Given the description of an element on the screen output the (x, y) to click on. 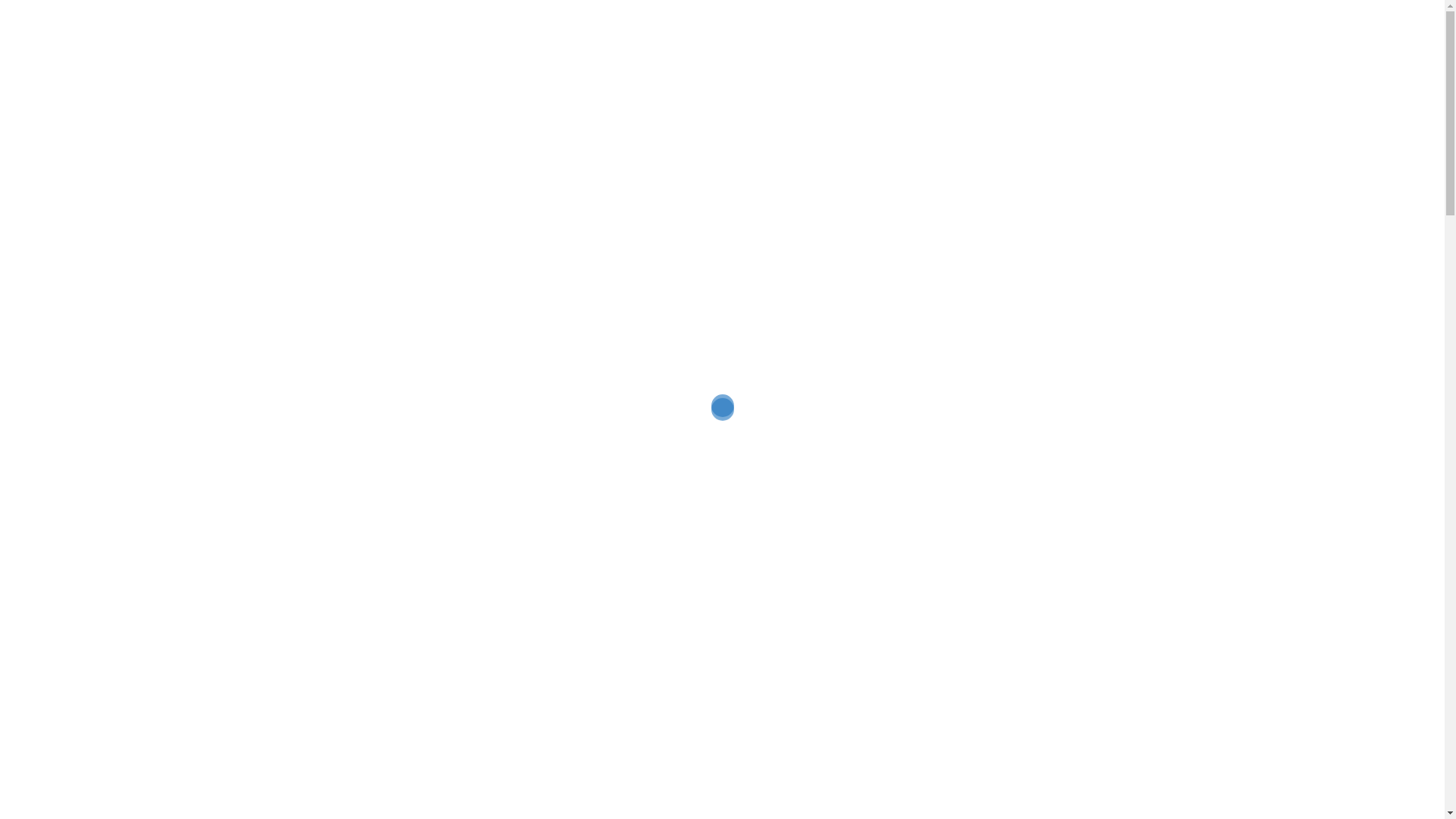
3rd Rock Air Element type: hover (425, 51)
Courses Element type: text (899, 52)
Contact Element type: text (1123, 52)
Learn More Element type: text (943, 764)
Learn More Element type: text (500, 786)
News Element type: text (955, 52)
Skip to content Element type: text (0, 0)
About Us Element type: text (1060, 52)
FAQs Element type: text (1002, 52)
Home Element type: text (844, 52)
